Given the description of an element on the screen output the (x, y) to click on. 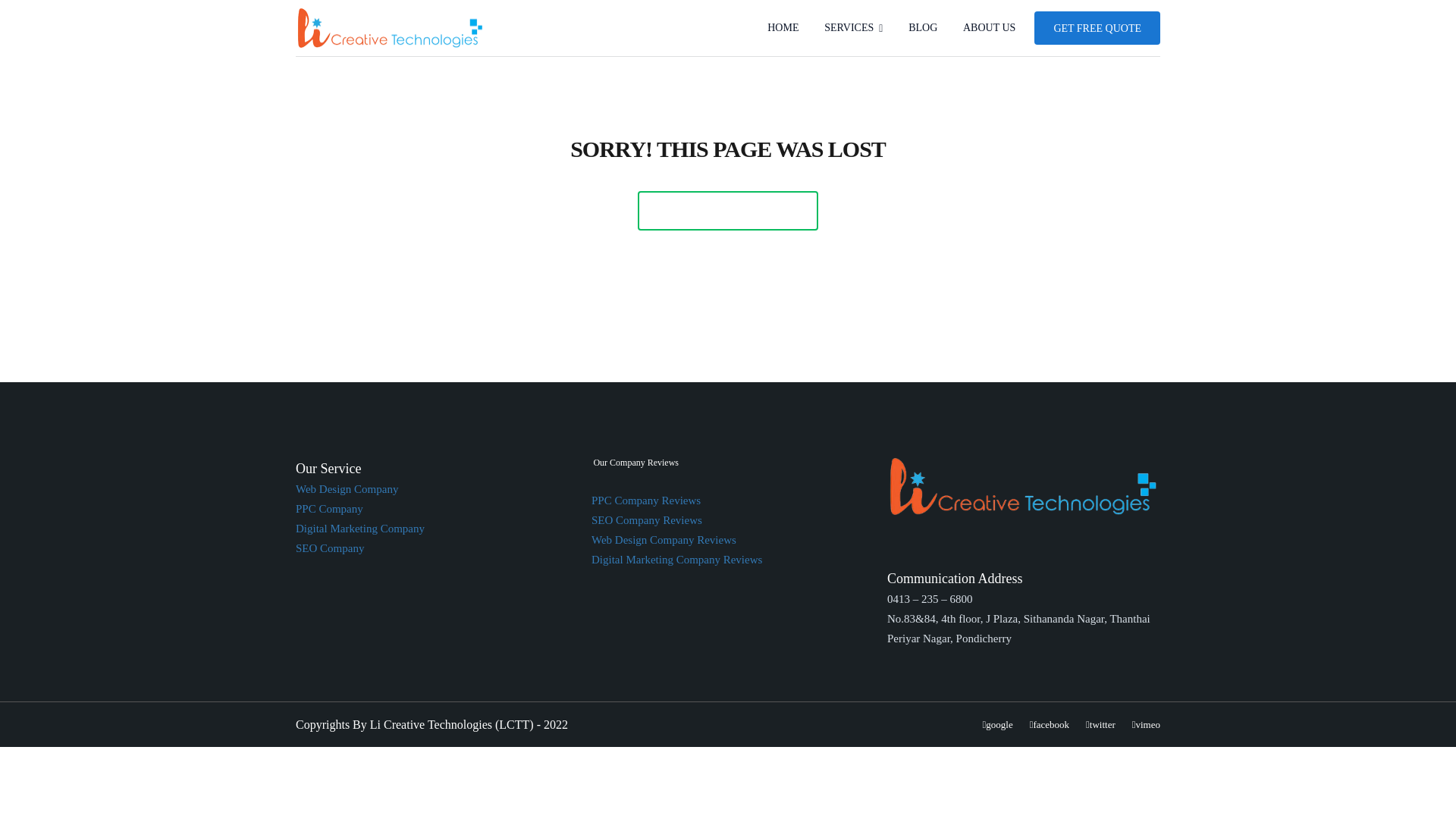
vimeo (1146, 724)
Digital Marketing Company (360, 528)
google (997, 724)
SERVICES (853, 28)
SEO Company Reviews (646, 520)
twitter (1100, 724)
facebook (1048, 724)
GET FREE QUOTE (1096, 28)
PPC Company Reviews (645, 500)
SEO Company (329, 548)
